Given the description of an element on the screen output the (x, y) to click on. 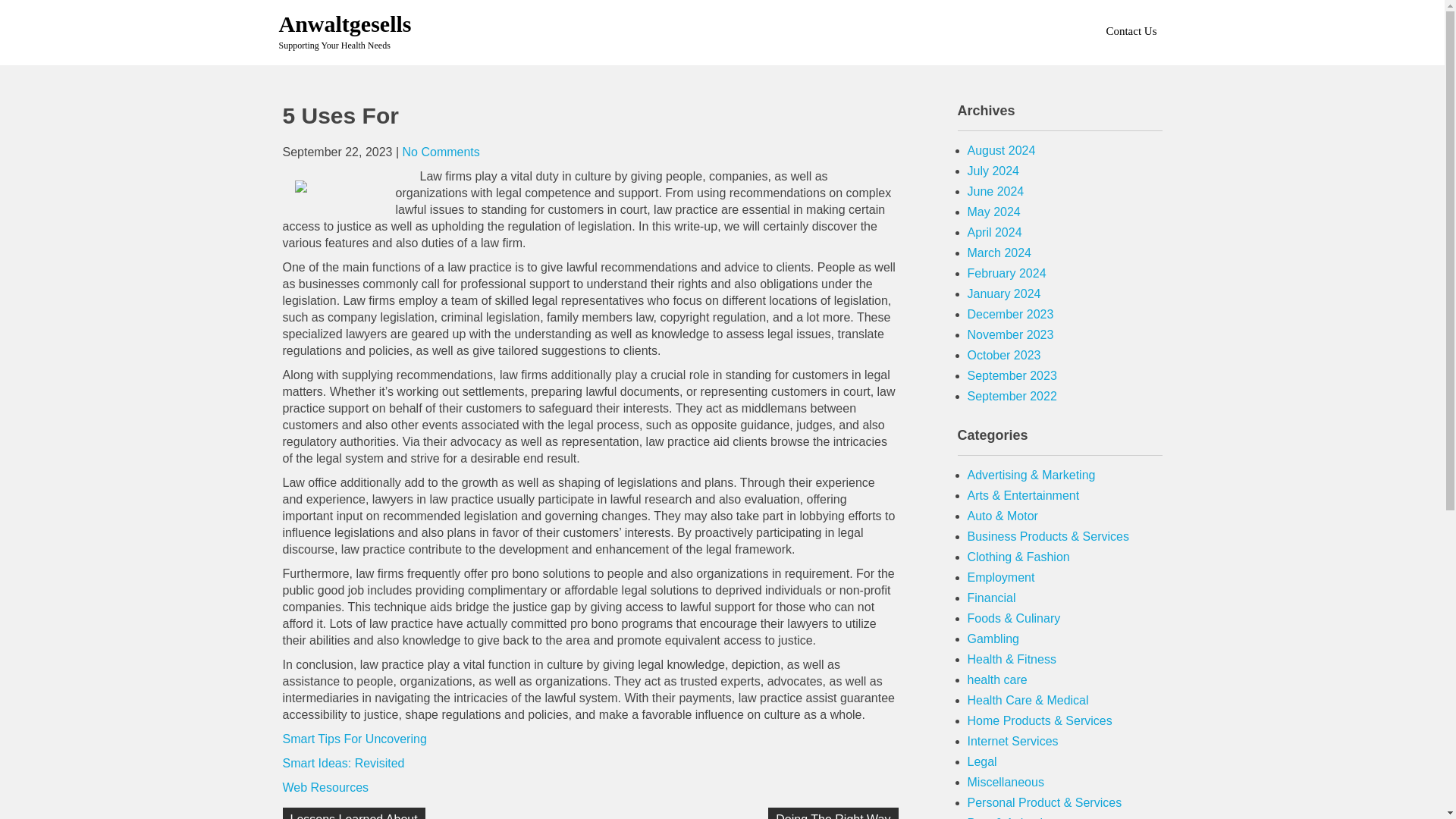
Legal (982, 761)
Gambling (993, 638)
April 2024 (995, 232)
Employment (1001, 576)
Smart Ideas: Revisited (343, 762)
October 2023 (1004, 354)
February 2024 (1007, 273)
Doing The Right Way (833, 813)
Lessons Learned About (353, 813)
November 2023 (1011, 334)
